Given the description of an element on the screen output the (x, y) to click on. 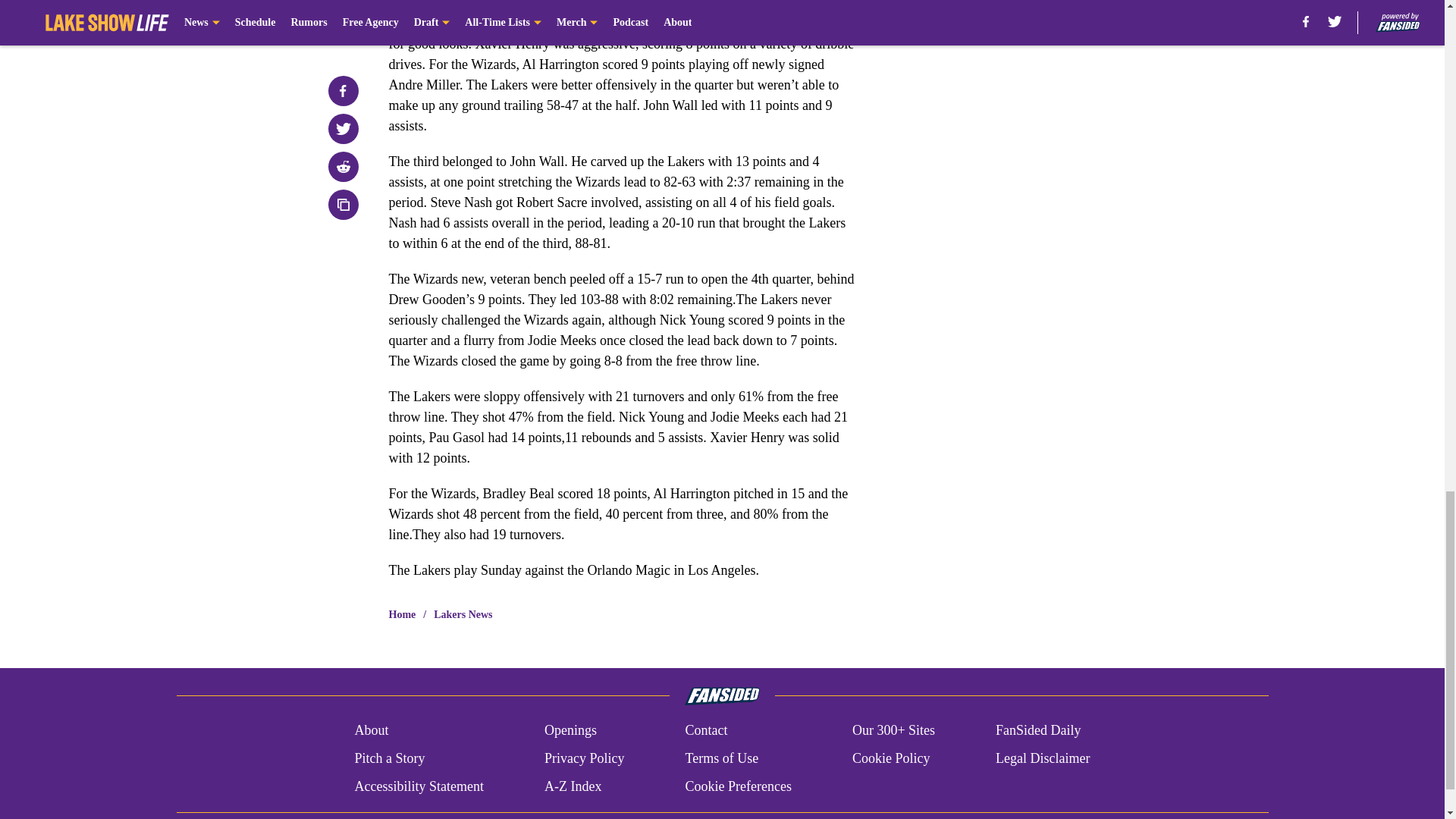
Home (401, 614)
About (370, 730)
Openings (570, 730)
Contact (705, 730)
FanSided Daily (1038, 730)
Lakers News (462, 614)
